Given the description of an element on the screen output the (x, y) to click on. 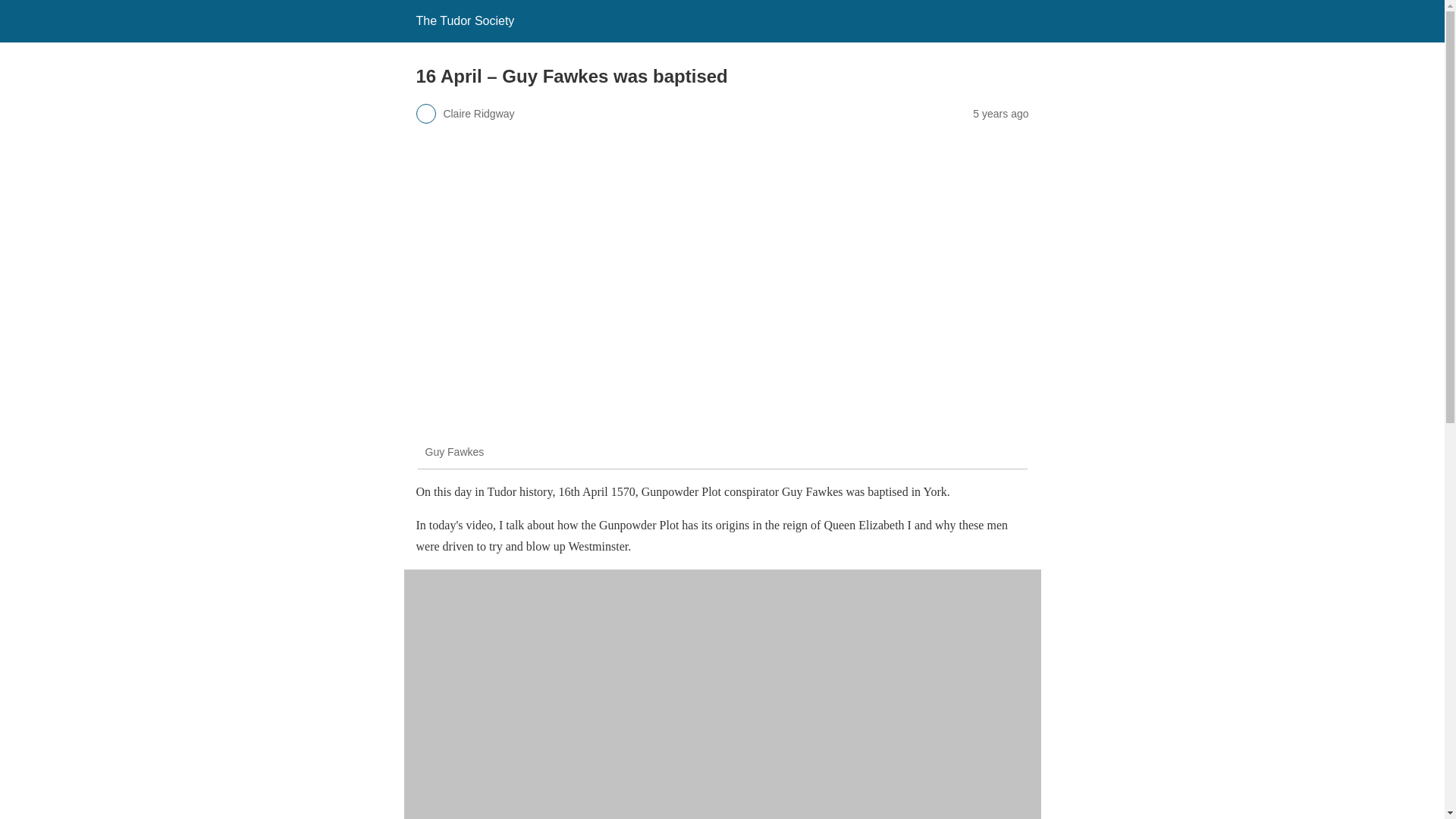
The Tudor Society (463, 20)
